Given the description of an element on the screen output the (x, y) to click on. 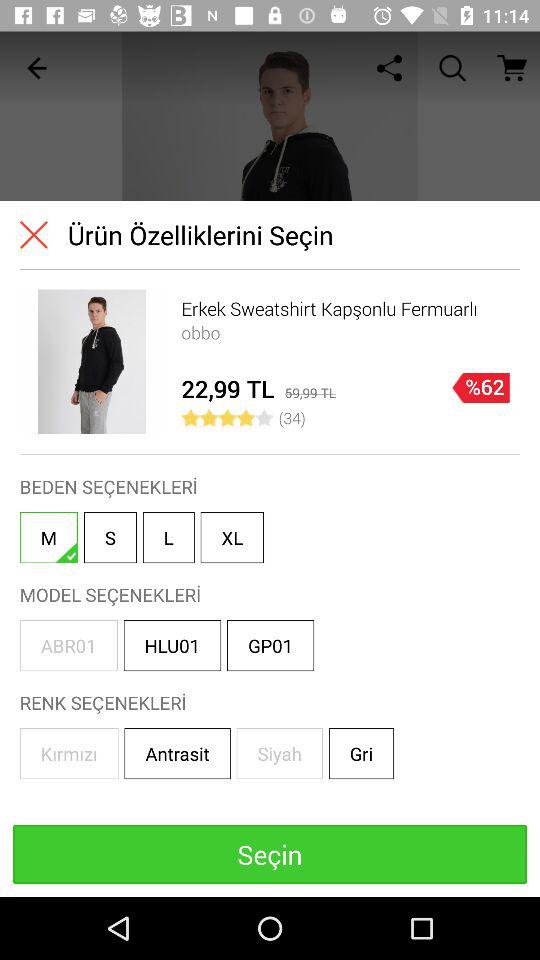
click the siyah icon (279, 753)
